Given the description of an element on the screen output the (x, y) to click on. 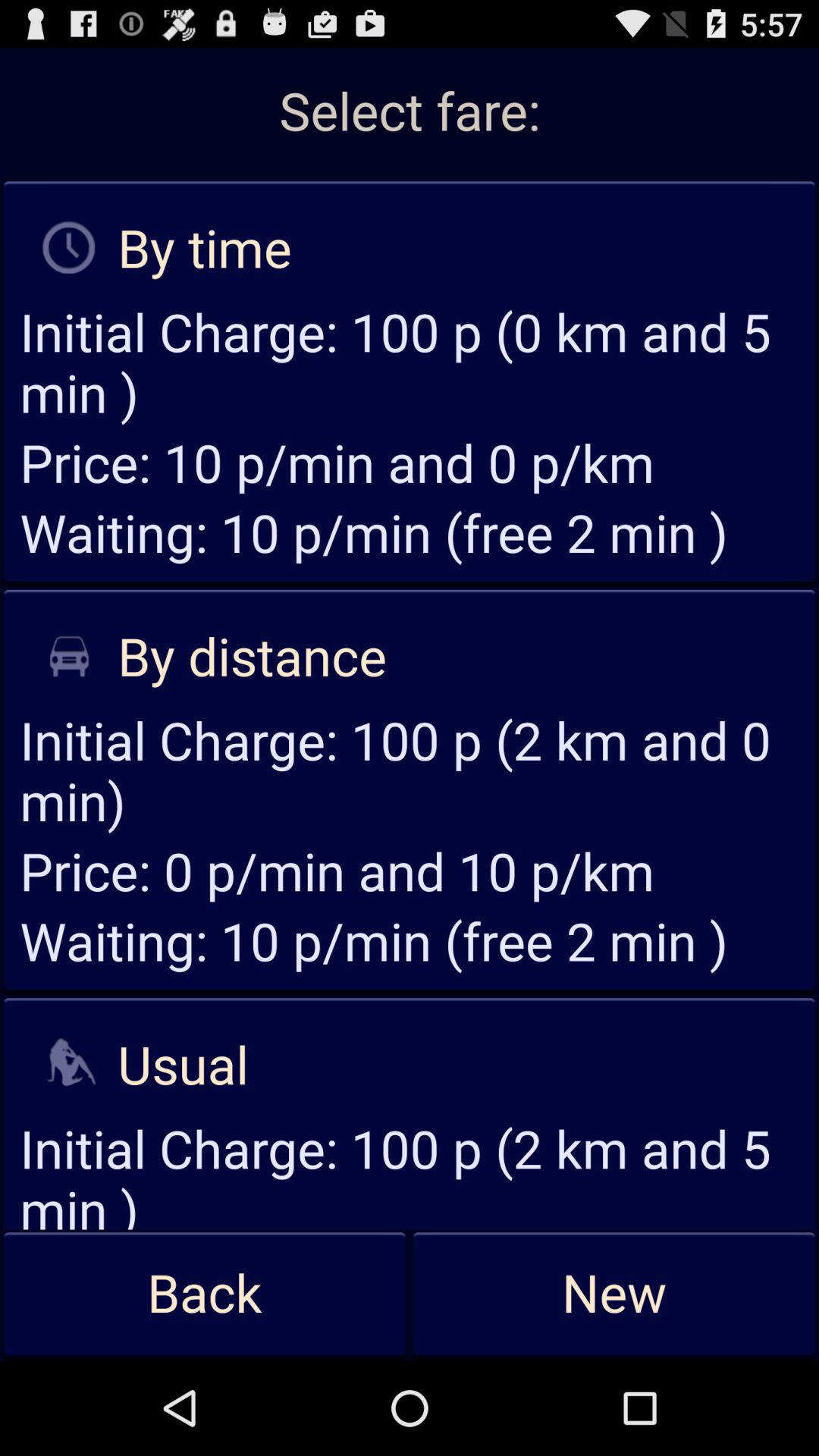
jump until new item (614, 1294)
